Given the description of an element on the screen output the (x, y) to click on. 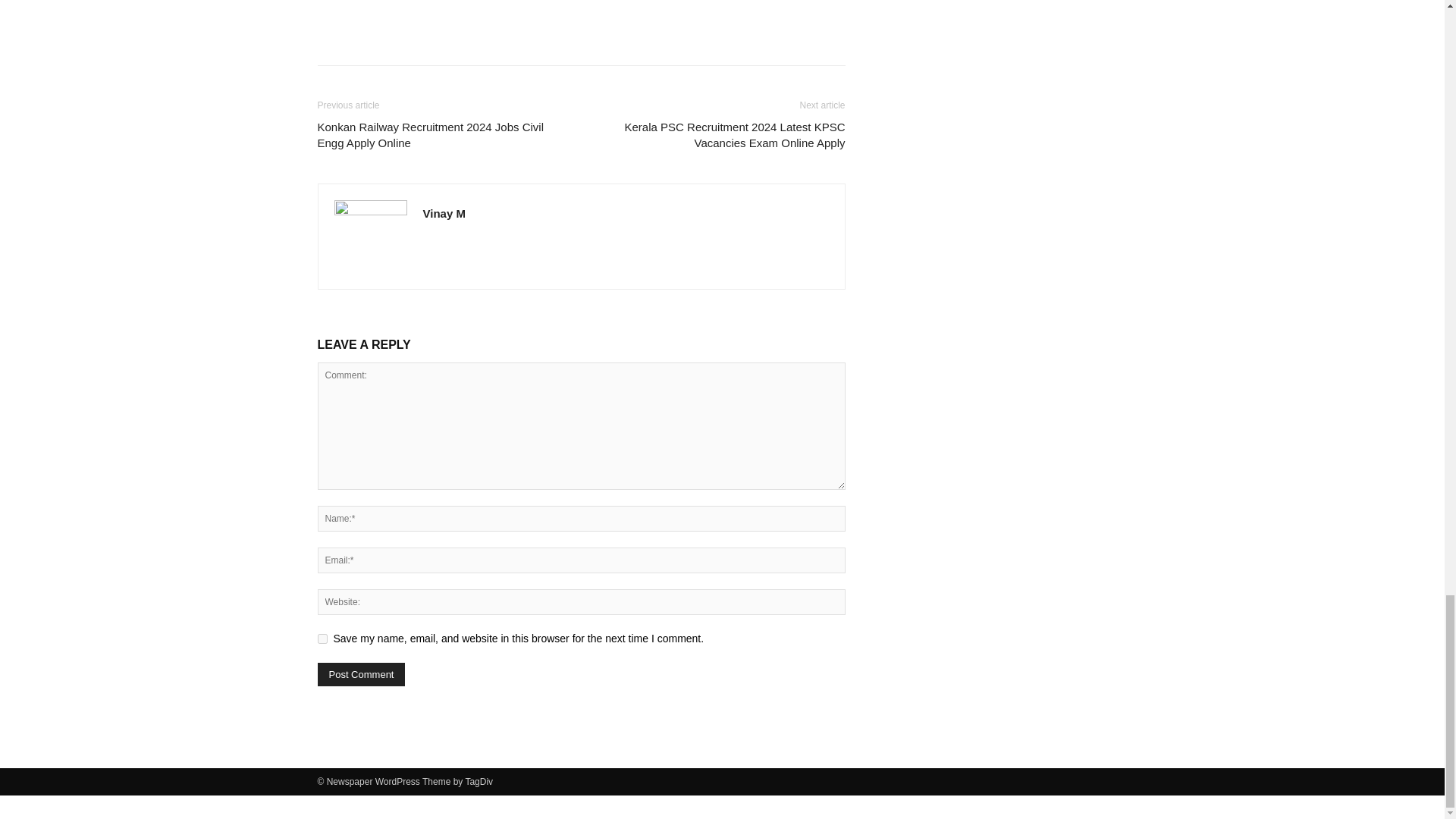
bottomFacebookLike (430, 4)
Post Comment (360, 674)
yes (321, 638)
